Given the description of an element on the screen output the (x, y) to click on. 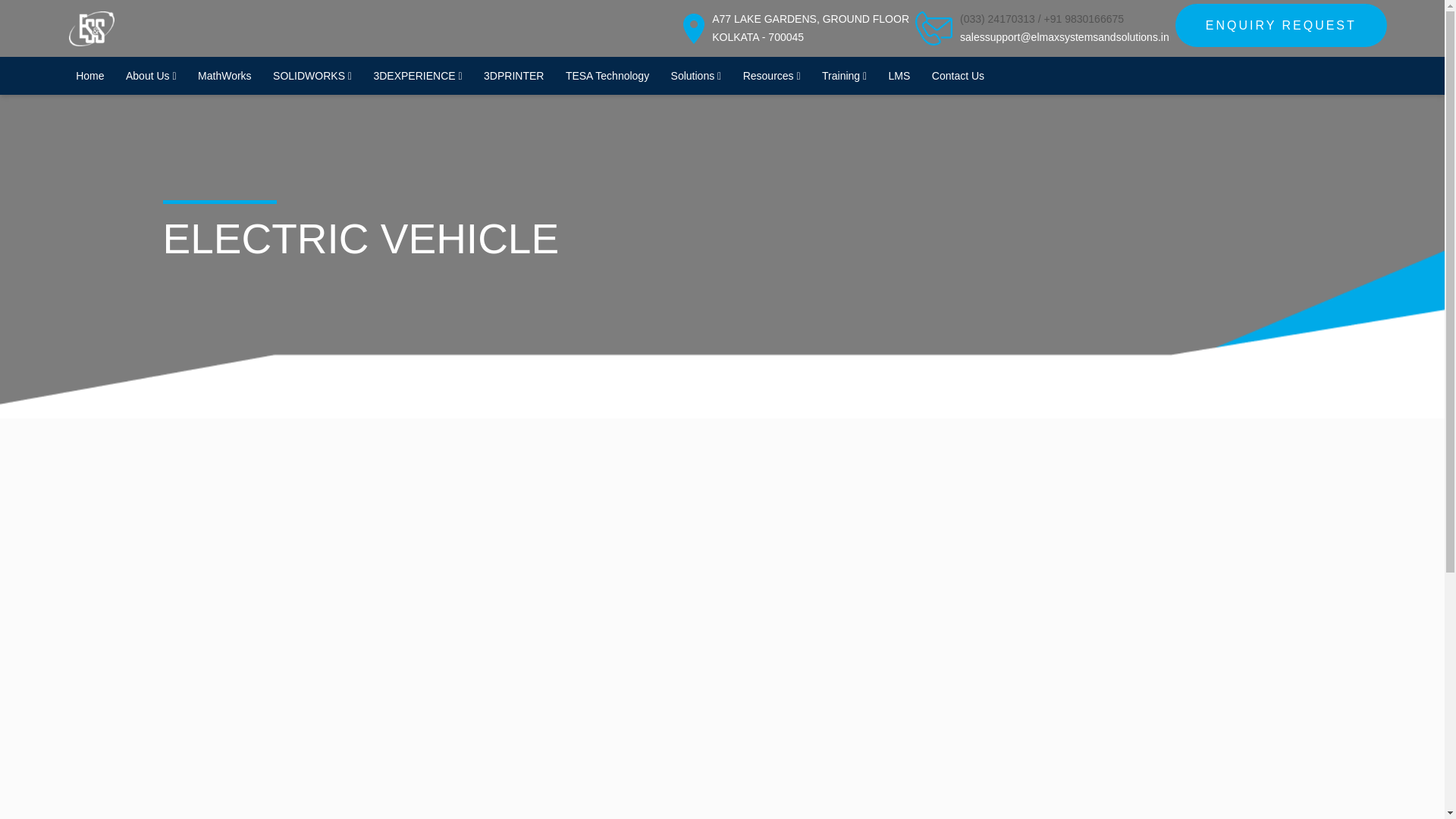
MathWorks (224, 75)
SOLIDWORKS (312, 75)
ENQUIRY REQUEST (809, 28)
Home (1280, 25)
3DEXPERIENCE (89, 75)
About Us (416, 75)
